Given the description of an element on the screen output the (x, y) to click on. 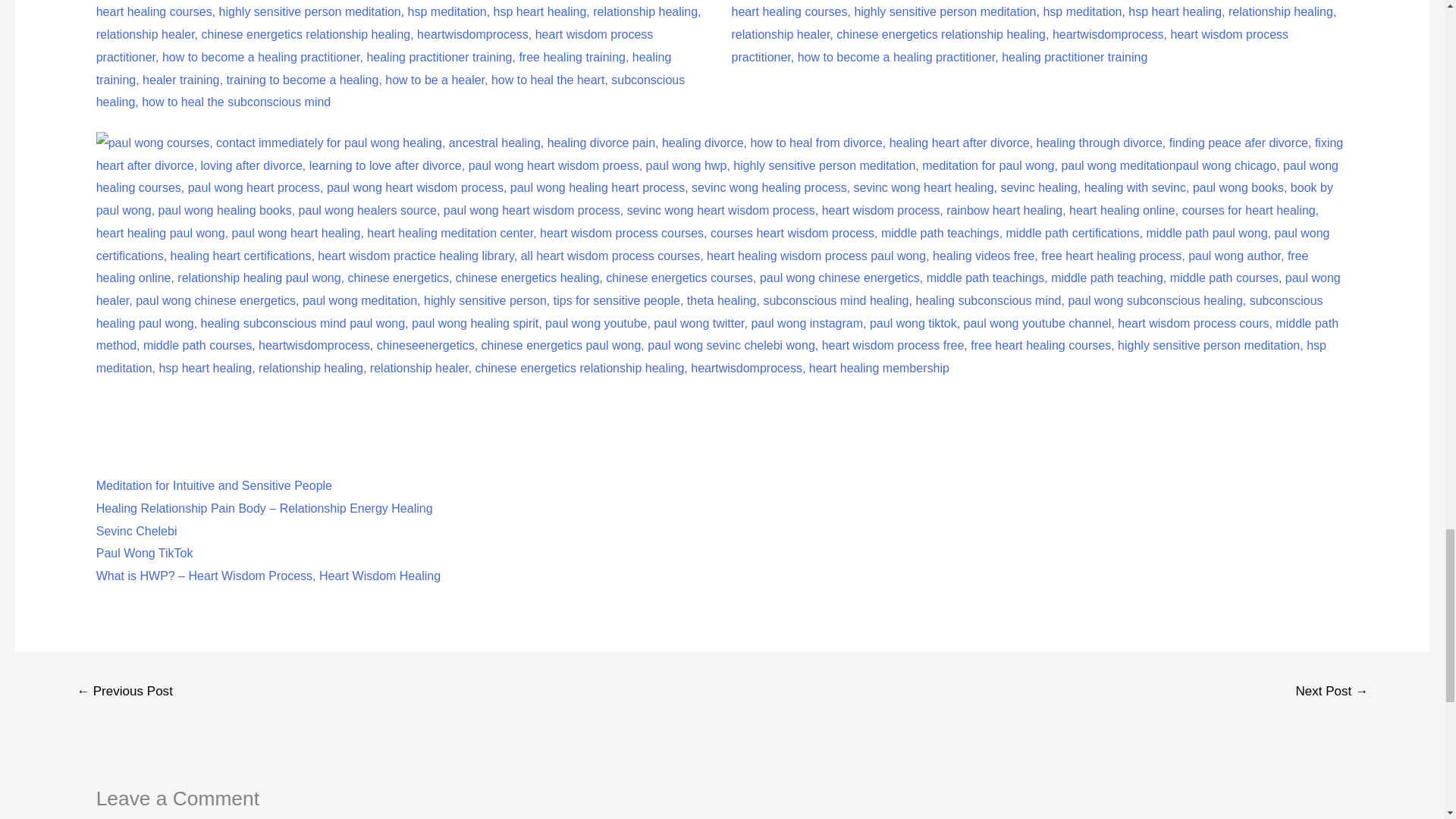
Sevinc Chelebi (136, 530)
Paul Wong TikTok (144, 553)
Meditation for Intuitive and Sensitive People (213, 485)
